Given the description of an element on the screen output the (x, y) to click on. 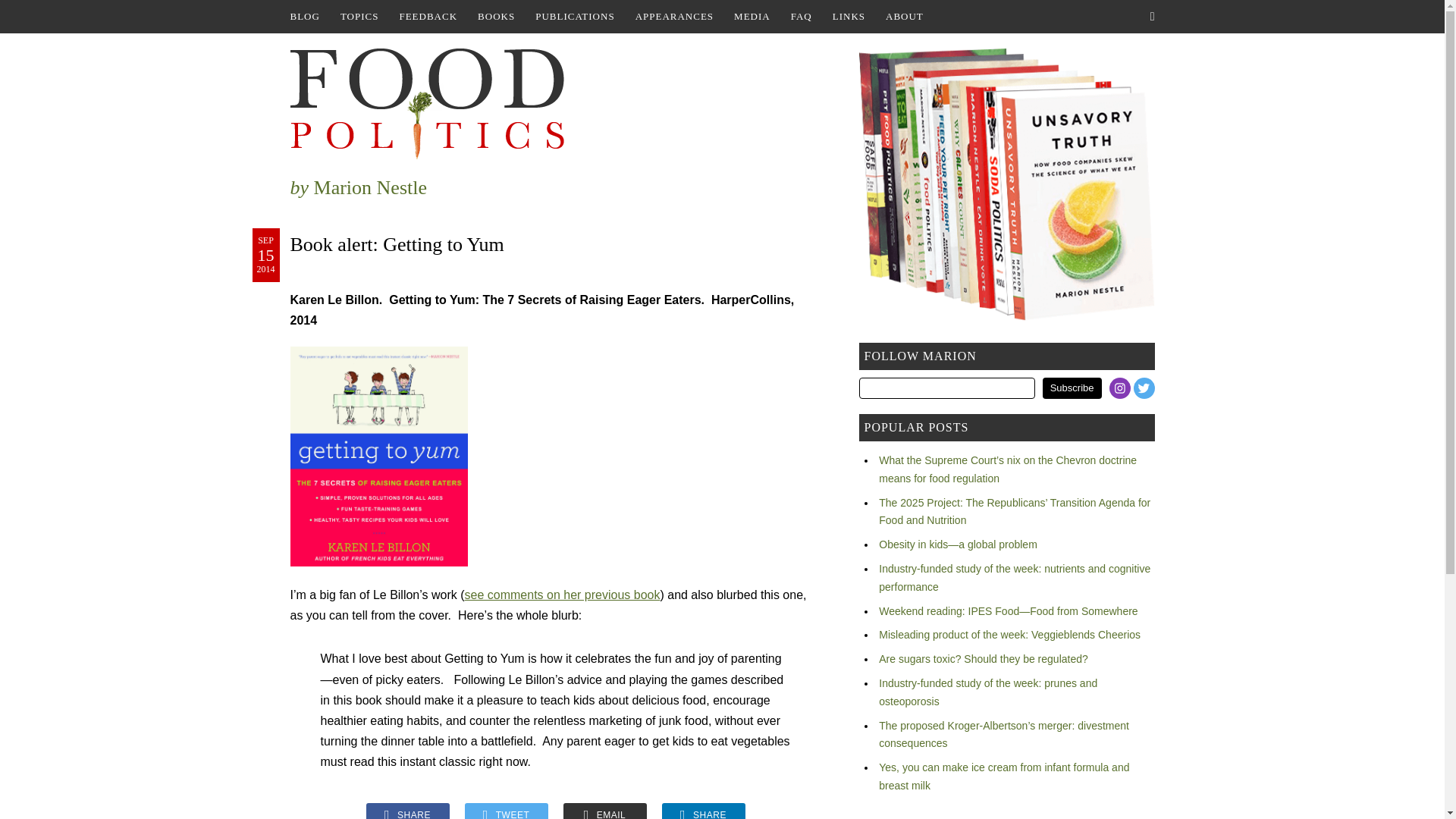
Twitter (1143, 388)
MEDIA (751, 16)
Are sugars toxic? Should they be regulated? (983, 658)
EMAIL (604, 811)
FEEDBACK (427, 16)
SHARE (702, 811)
Industry-funded study of the week: prunes and osteoporosis (988, 692)
TWEET (505, 811)
BOOKS (496, 16)
Subscribe (1072, 387)
ABOUT (904, 16)
TOPICS (360, 16)
BLOG (304, 16)
Misleading product of the week: Veggieblends Cheerios (1009, 634)
Twitter (1143, 387)
